Given the description of an element on the screen output the (x, y) to click on. 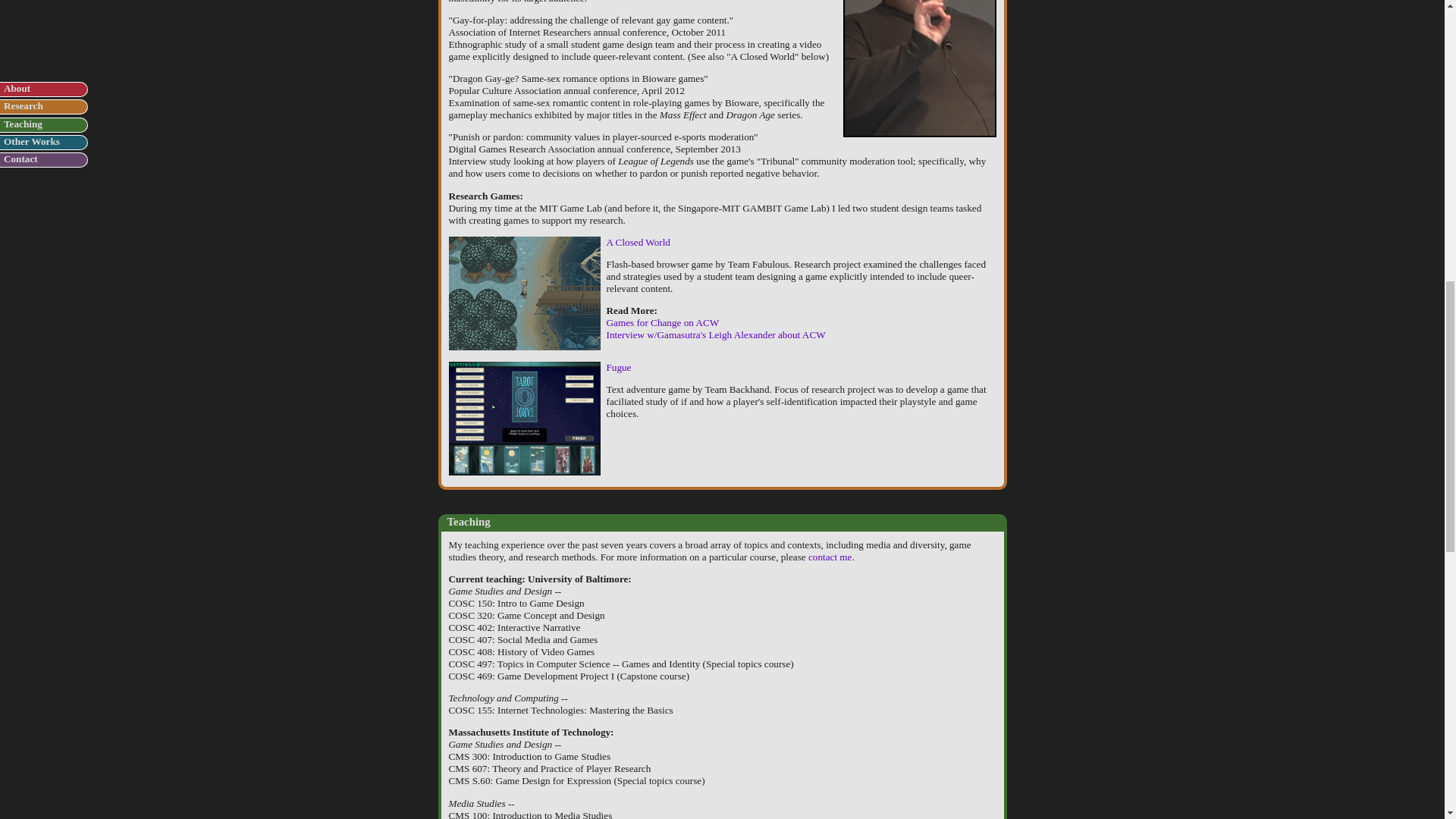
A Closed World (638, 242)
Fugue (619, 367)
contact me (829, 556)
Games for Change on ACW (663, 322)
